Given the description of an element on the screen output the (x, y) to click on. 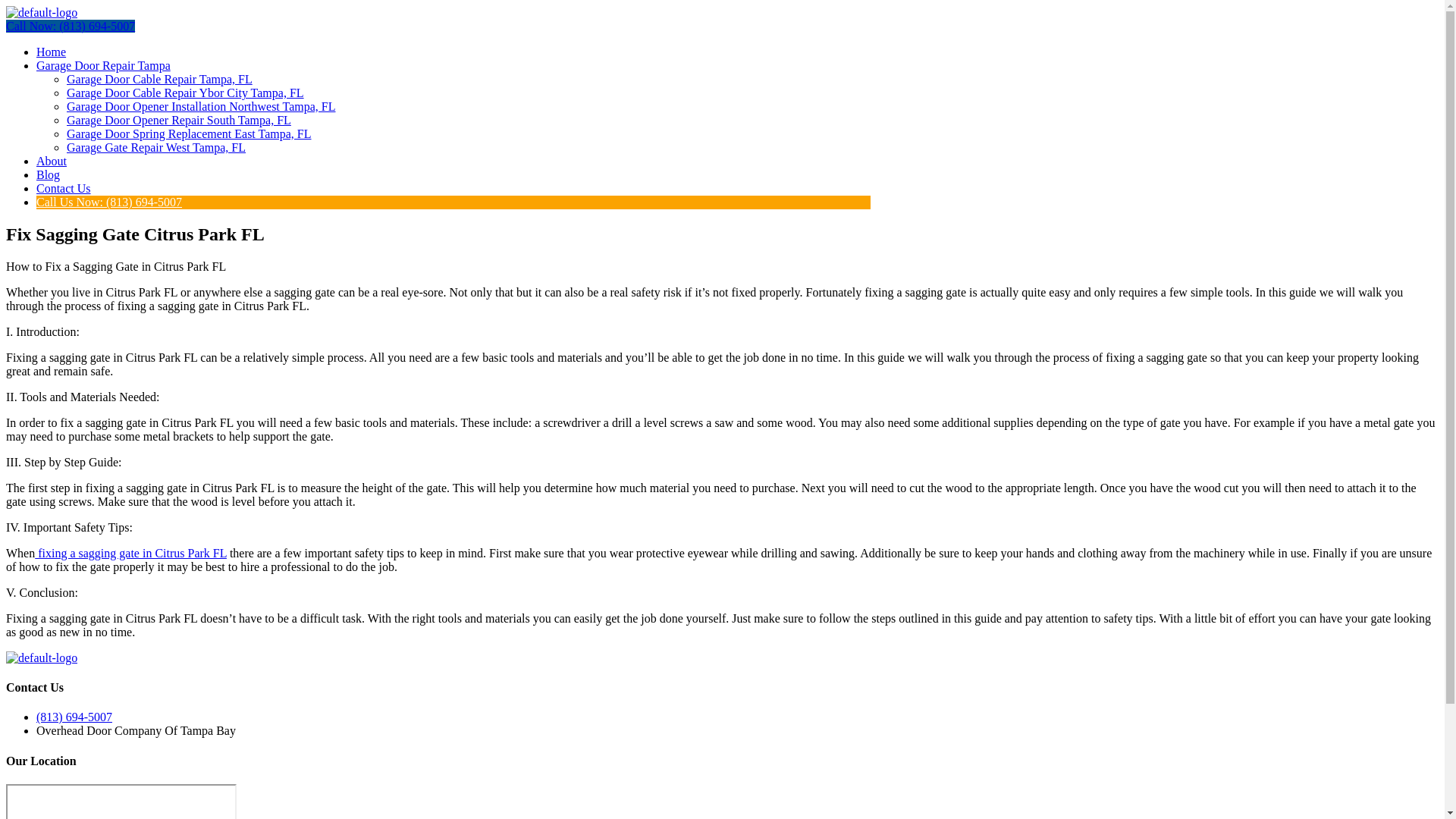
Contact Us (63, 187)
Blog (47, 174)
Garage Door Opener Installation Northwest Tampa, FL (200, 106)
fixing a sagging gate in Citrus Park FL (130, 553)
Garage Door Cable Repair Ybor City Tampa, FL (185, 92)
Overhead Door Company Of Tampa Bay (120, 801)
Home (50, 51)
Garage Door Repair Tampa (103, 65)
Garage Gate Repair West Tampa, FL (156, 146)
Garage Door Spring Replacement East Tampa, FL (188, 133)
About (51, 160)
Garage Door Cable Repair Tampa, FL (158, 78)
Garage Door Opener Repair South Tampa, FL (178, 119)
